Given the description of an element on the screen output the (x, y) to click on. 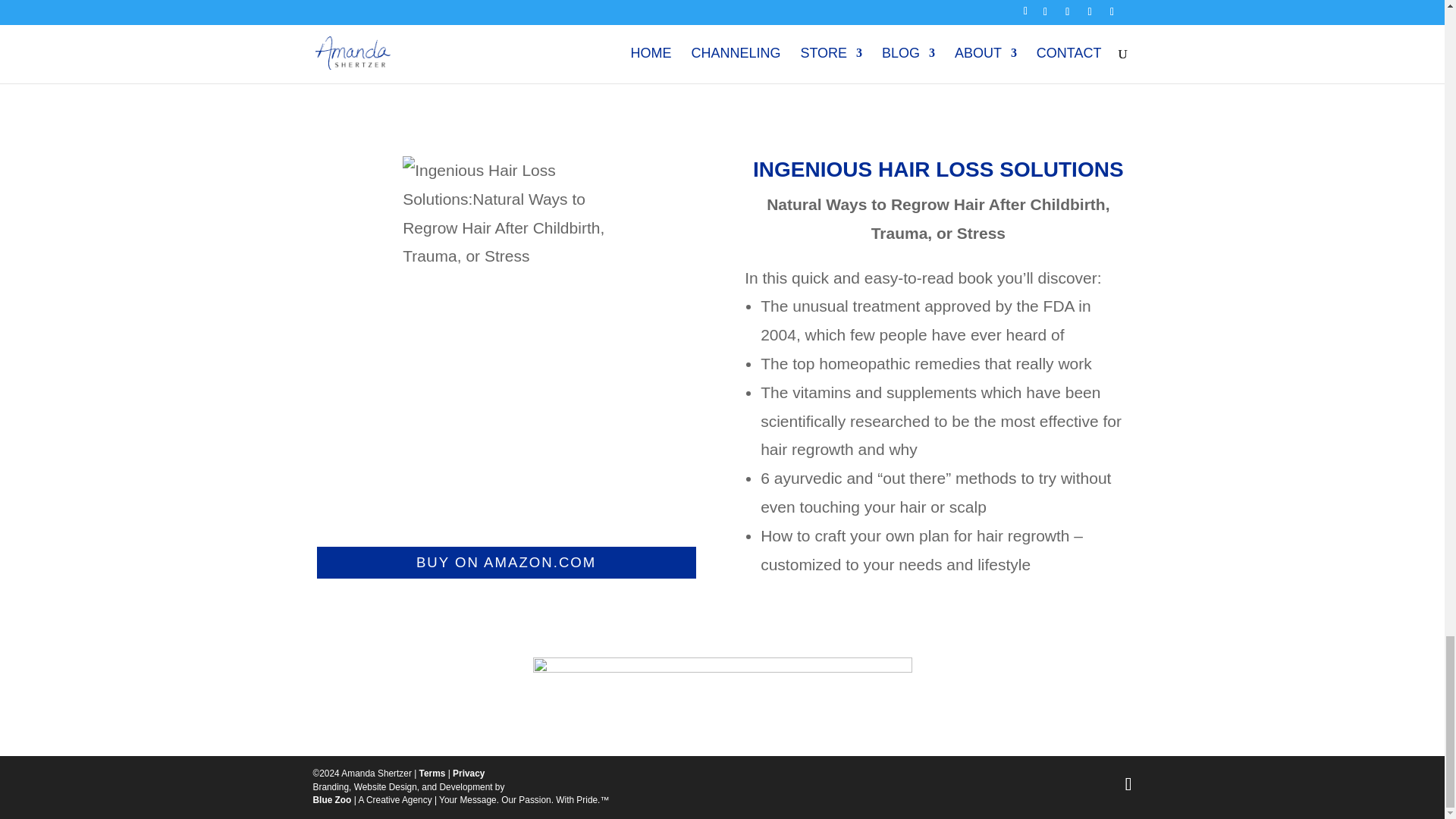
Privacy (468, 773)
BUY ON AMAZON.COM (506, 562)
Terms (432, 773)
Blue Zoo (331, 799)
